Given the description of an element on the screen output the (x, y) to click on. 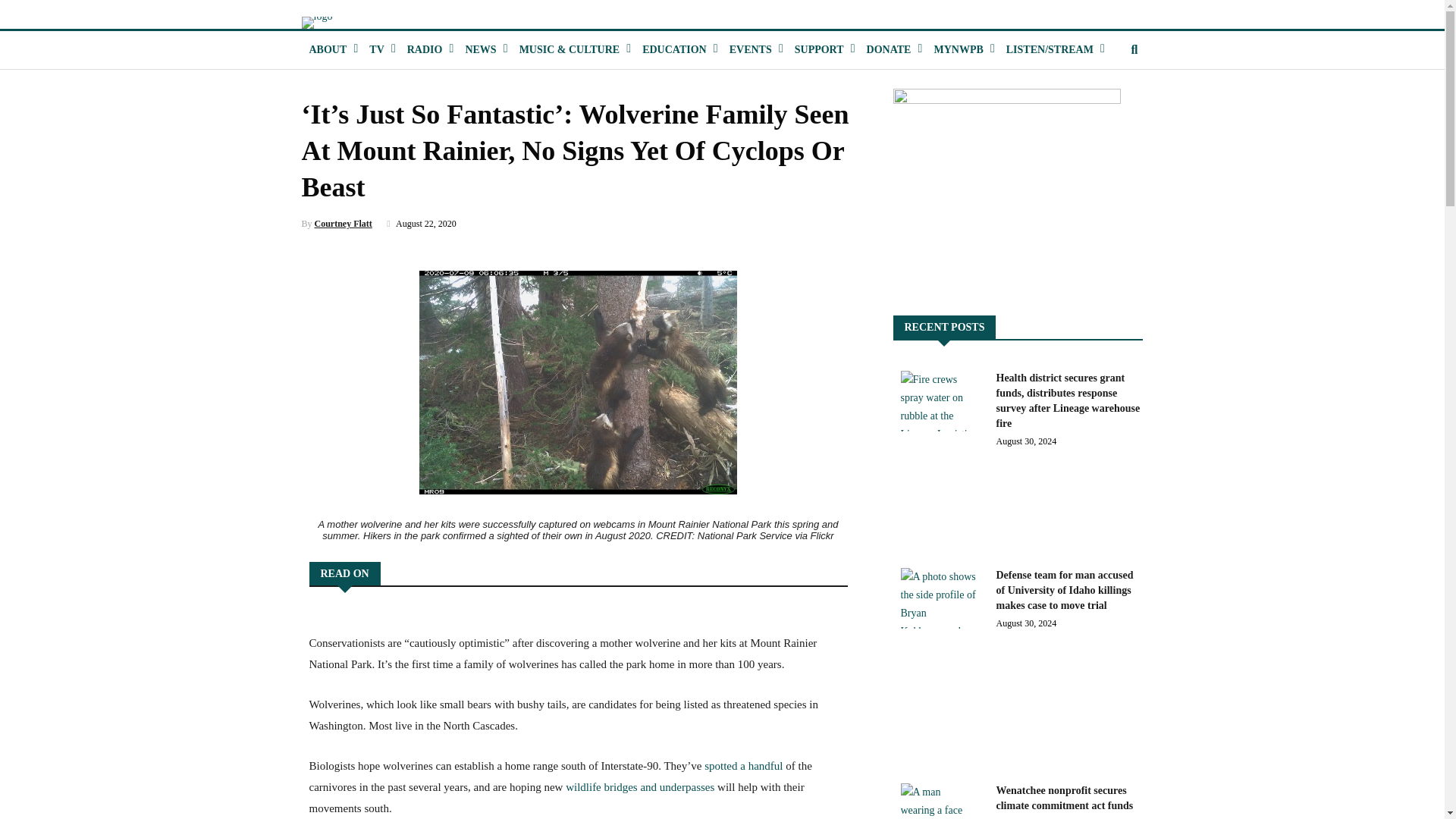
ABOUT (327, 49)
logo (317, 22)
TV (376, 49)
RADIO (425, 49)
NEWS (479, 49)
Donate Button (889, 49)
